Given the description of an element on the screen output the (x, y) to click on. 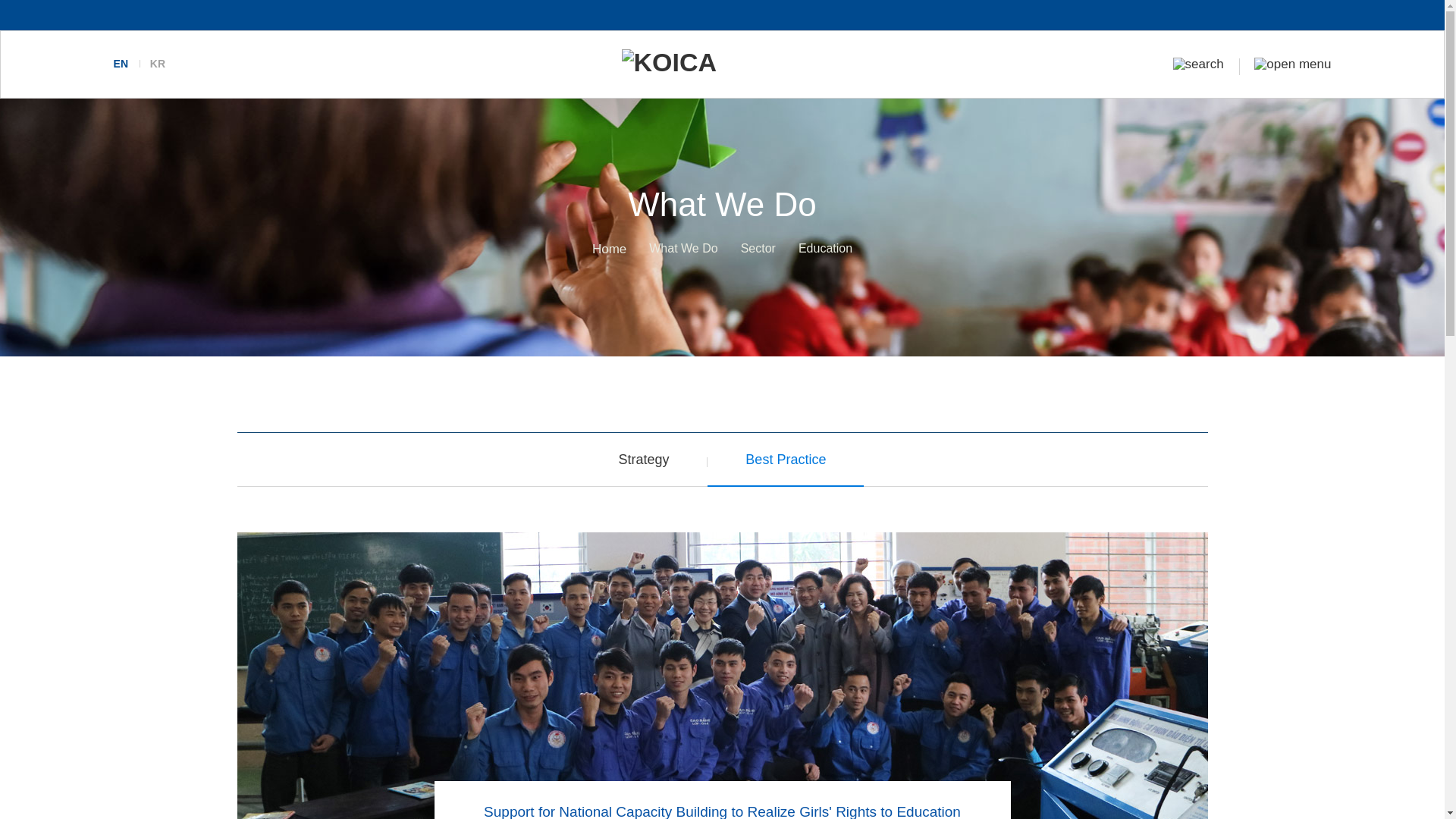
Strategy (643, 459)
KR (157, 63)
EN (120, 63)
